Given the description of an element on the screen output the (x, y) to click on. 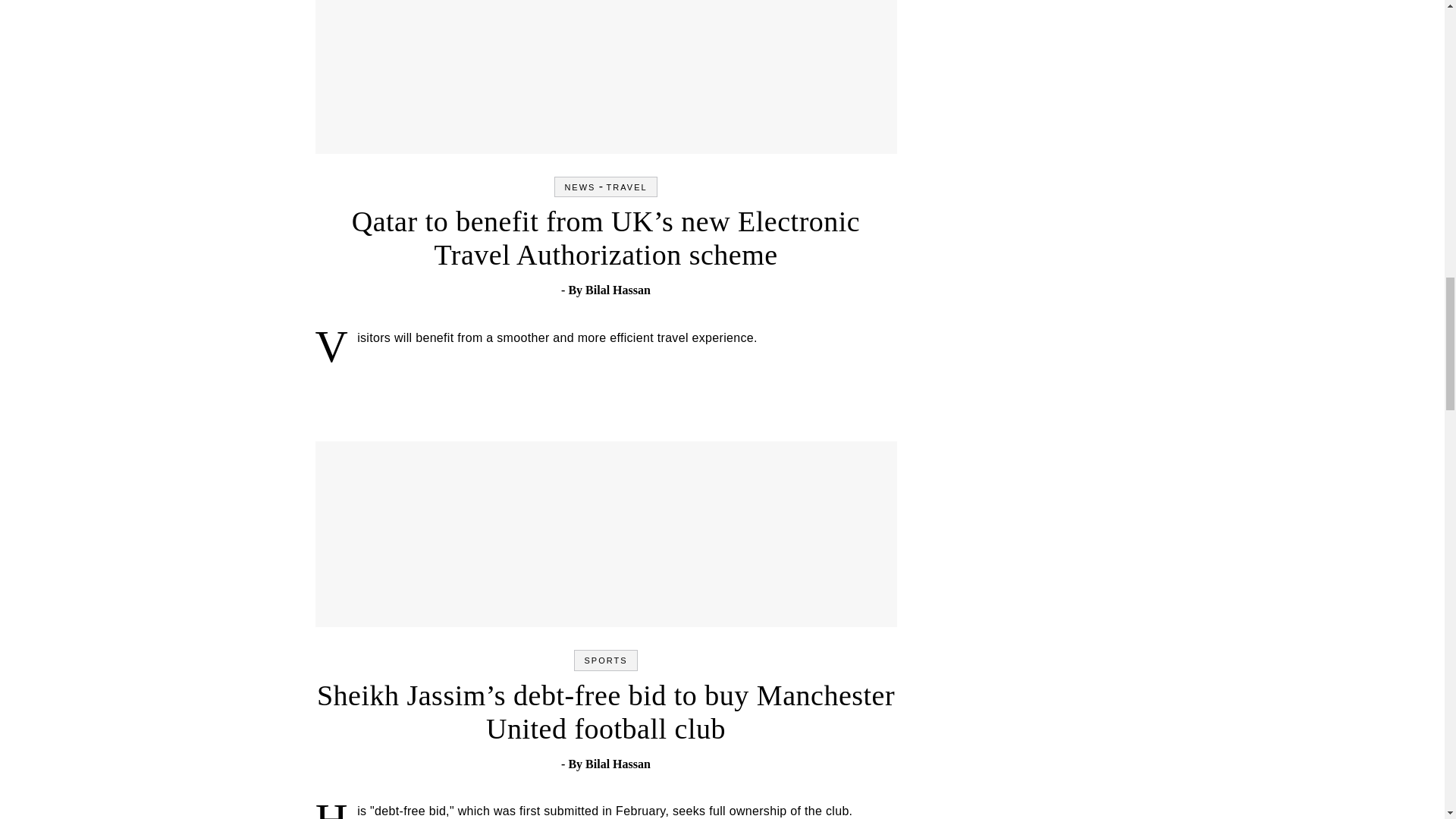
Posts by Bilal Hassan (617, 763)
NEWS (579, 186)
TRAVEL (627, 186)
Bilal Hassan (617, 289)
Bilal Hassan (617, 763)
Posts by Bilal Hassan (617, 289)
SPORTS (605, 660)
